Given the description of an element on the screen output the (x, y) to click on. 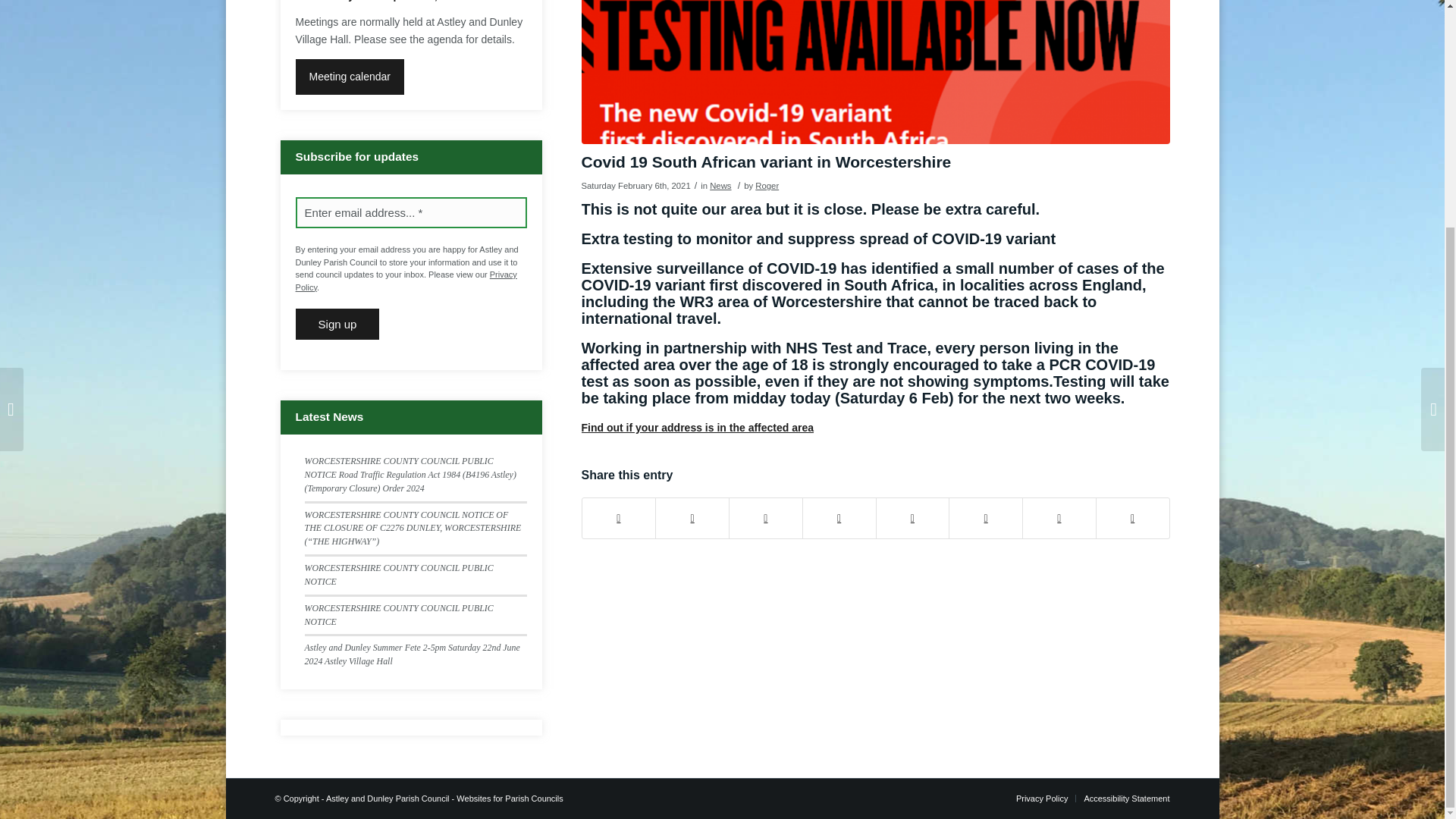
Sign up (337, 323)
Posts by Roger (766, 185)
Covid 19 South African variant in Worcestershire (874, 72)
